Given the description of an element on the screen output the (x, y) to click on. 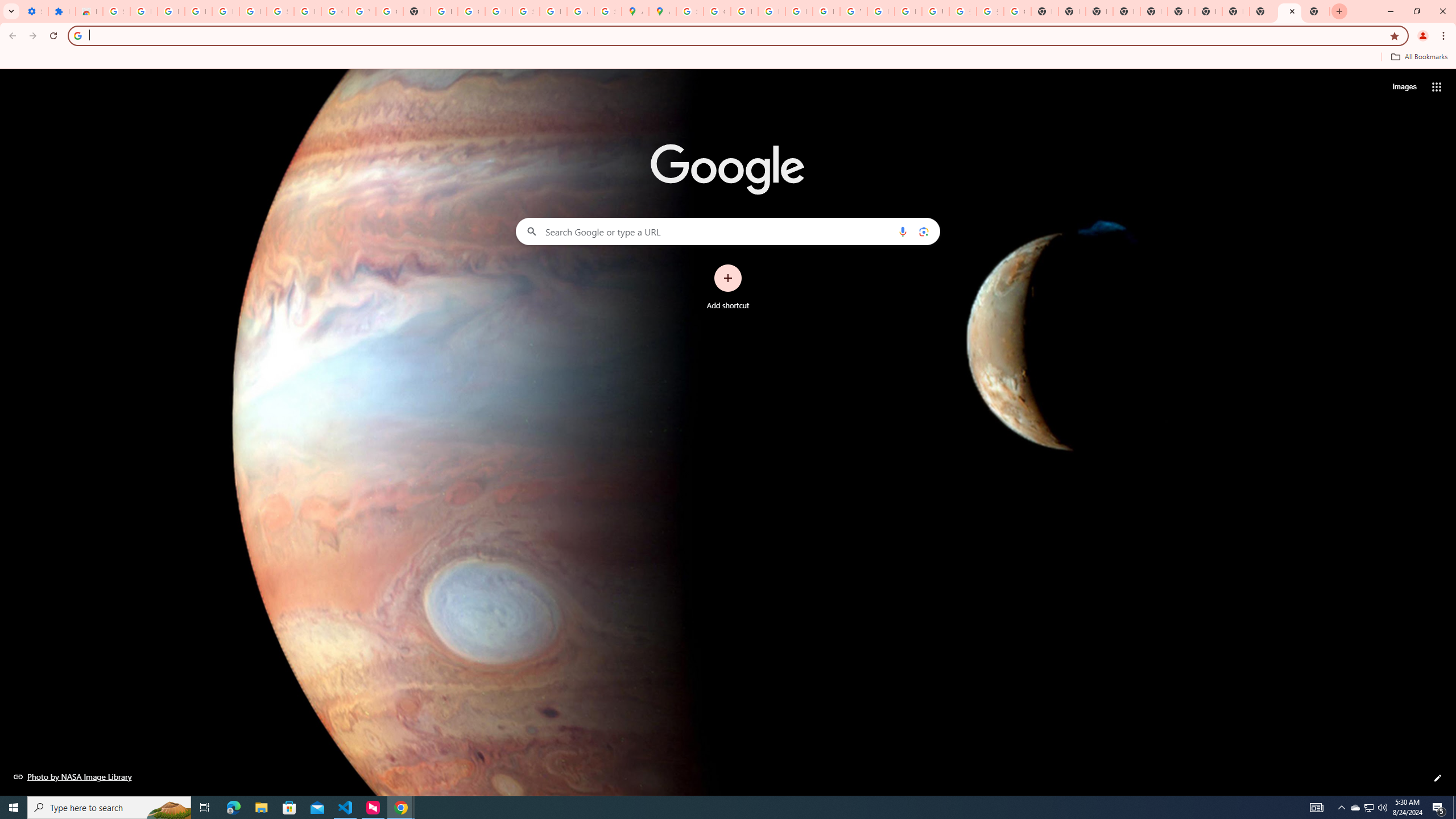
Sign in - Google Accounts (116, 11)
Sign in - Google Accounts (280, 11)
Google Images (1017, 11)
